Given the description of an element on the screen output the (x, y) to click on. 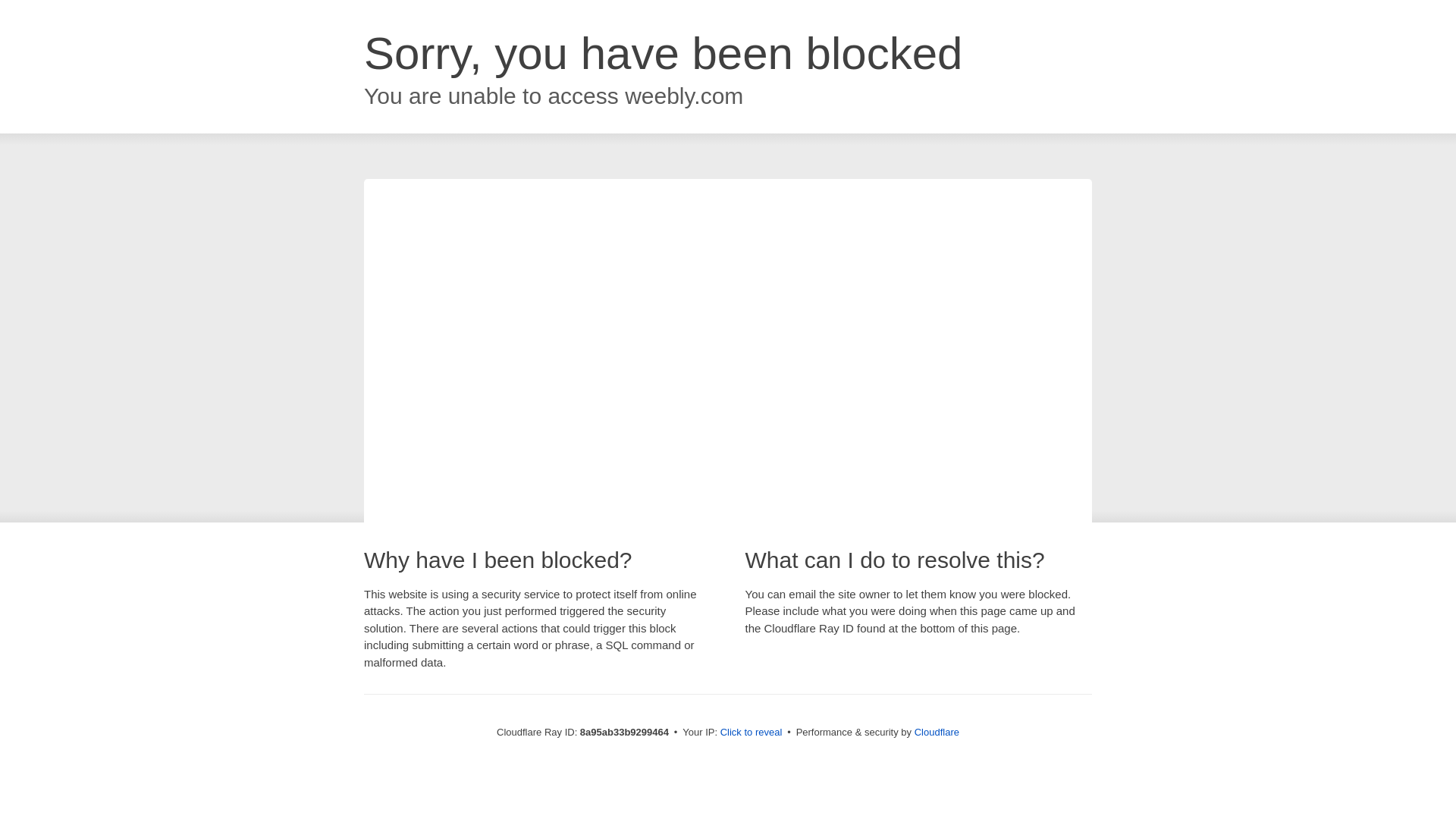
Click to reveal (751, 732)
Cloudflare (936, 731)
